Given the description of an element on the screen output the (x, y) to click on. 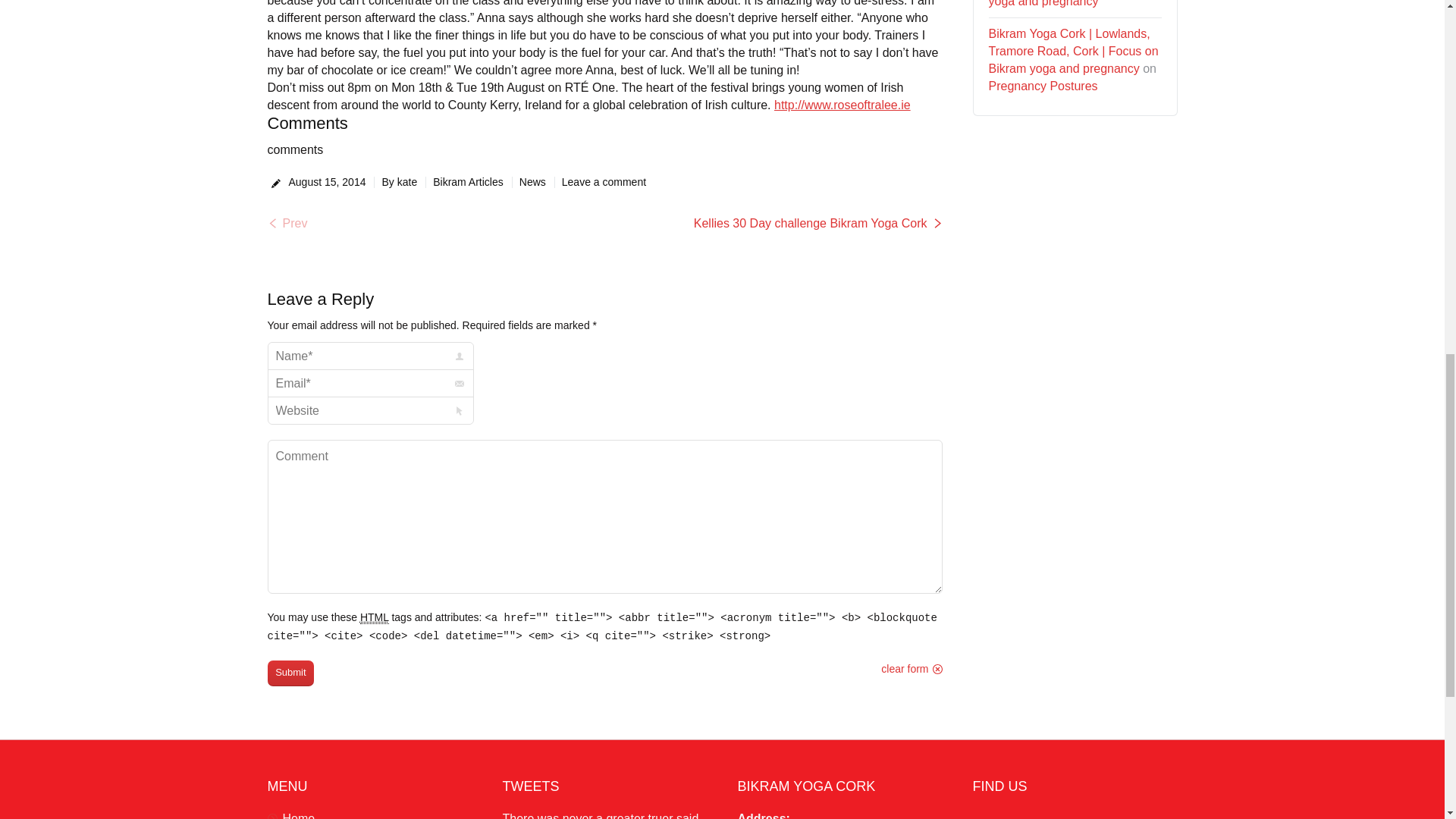
HyperText Markup Language (373, 617)
View all posts by kate (395, 181)
August 15, 2014 (326, 181)
4:02 pm (326, 181)
By kate (395, 181)
